Given the description of an element on the screen output the (x, y) to click on. 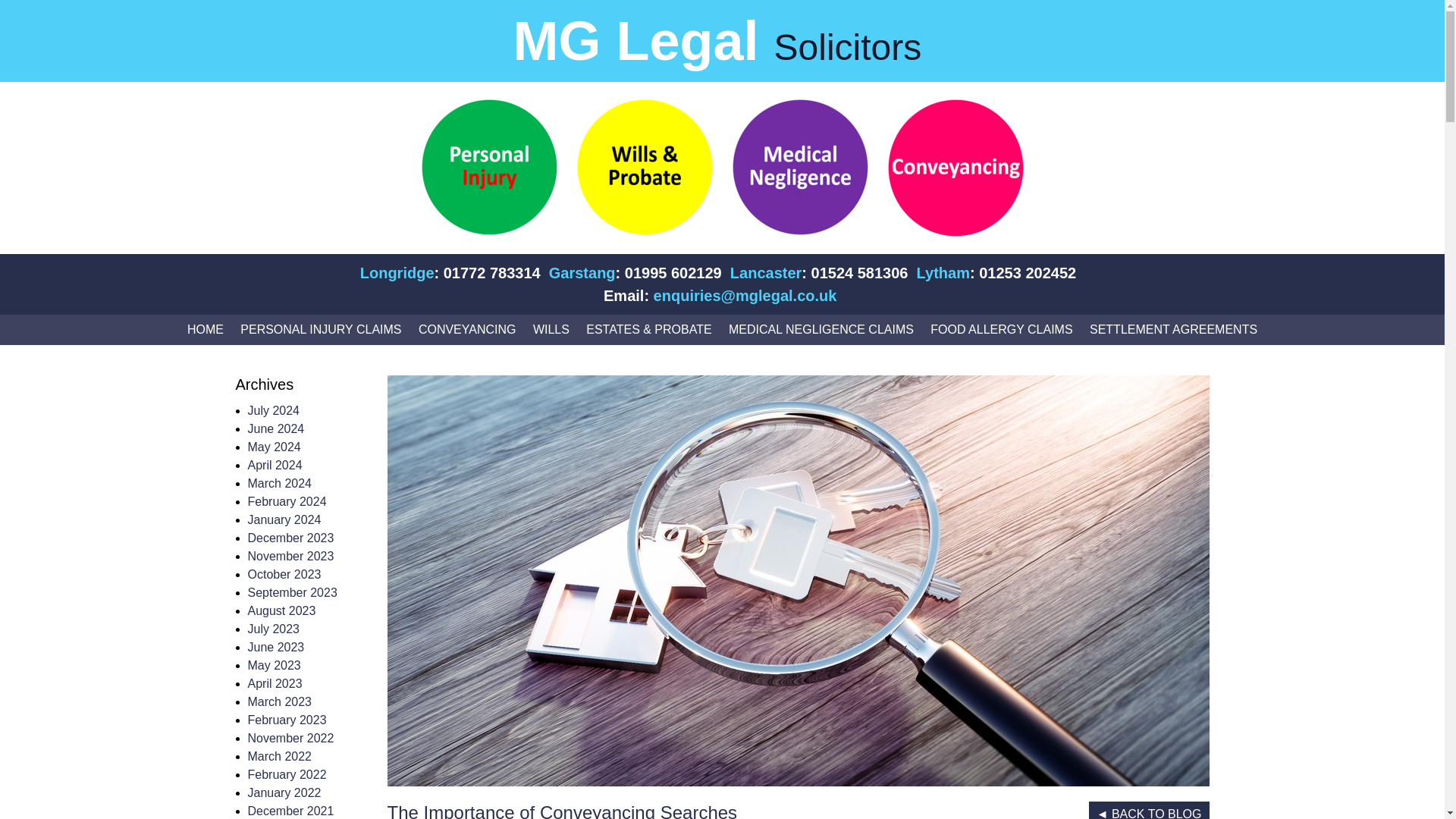
Lancaster (766, 273)
Lytham (943, 273)
HOME (205, 329)
WILLS (551, 329)
CONVEYANCING (467, 329)
Garstang (581, 273)
PERSONAL INJURY CLAIMS (320, 329)
Longridge (396, 273)
